Given the description of an element on the screen output the (x, y) to click on. 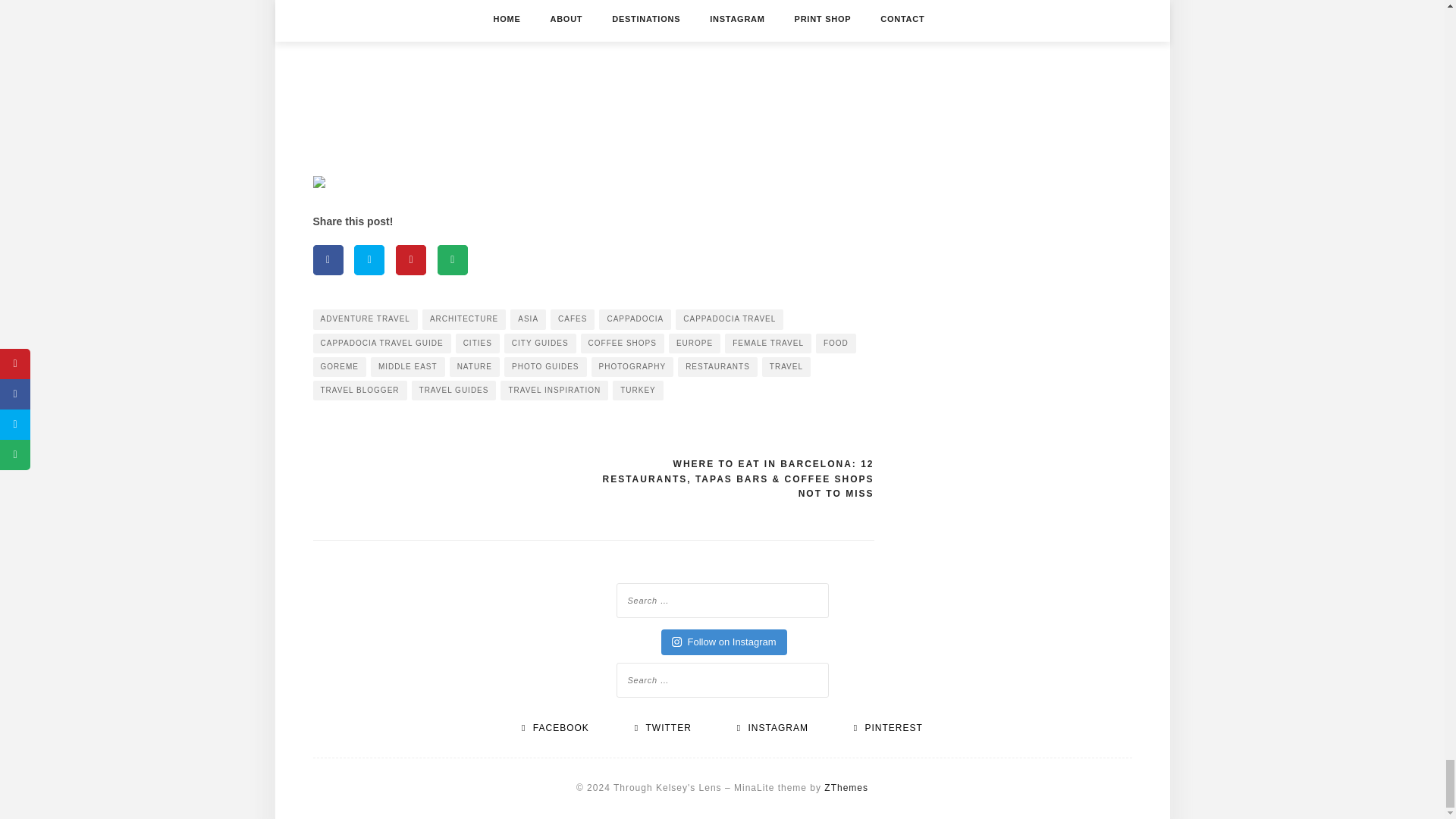
Save to Pinterest (411, 259)
Send over email (452, 259)
Share on Twitter (368, 259)
Share on Facebook (327, 259)
